Given the description of an element on the screen output the (x, y) to click on. 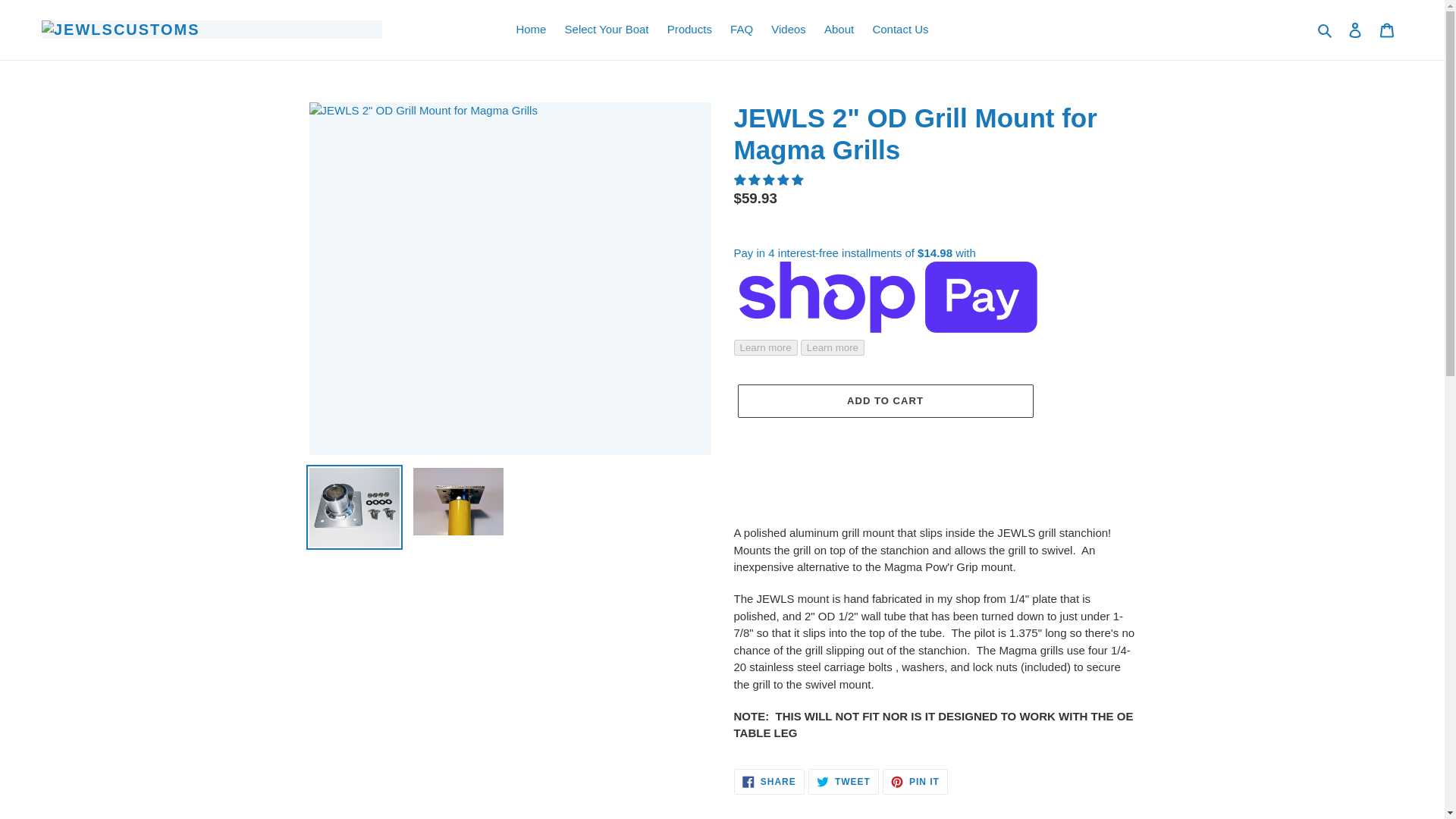
Cart (769, 781)
Log in (1387, 29)
Products (1355, 29)
Videos (689, 29)
About (787, 29)
FAQ (838, 29)
Select Your Boat (741, 29)
Contact Us (843, 781)
